Given the description of an element on the screen output the (x, y) to click on. 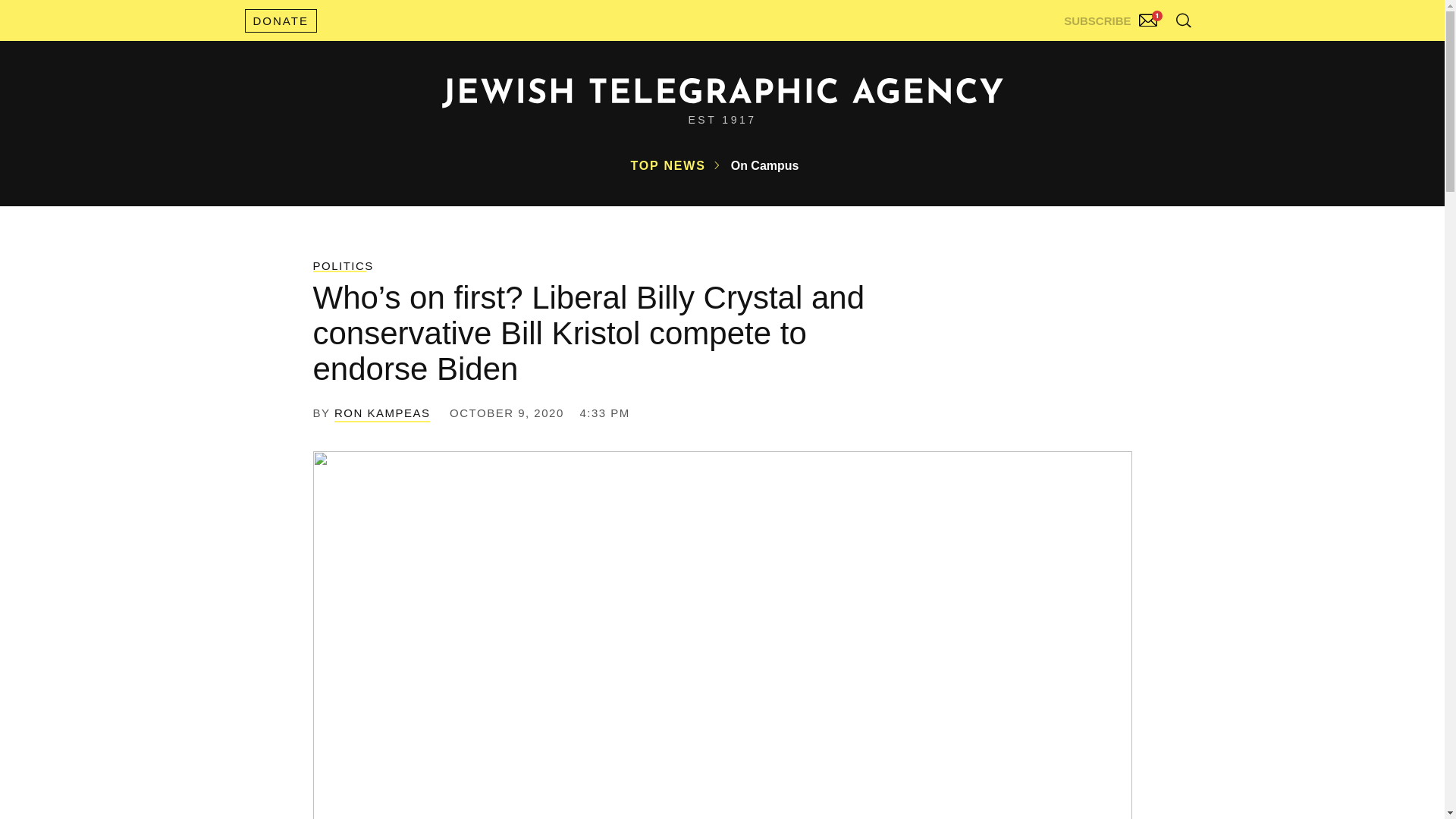
SEARCH TOGGLESEARCH TOGGLE (1182, 20)
DONATE (279, 20)
SUBSCRIBE (1112, 17)
Search (1144, 53)
